Given the description of an element on the screen output the (x, y) to click on. 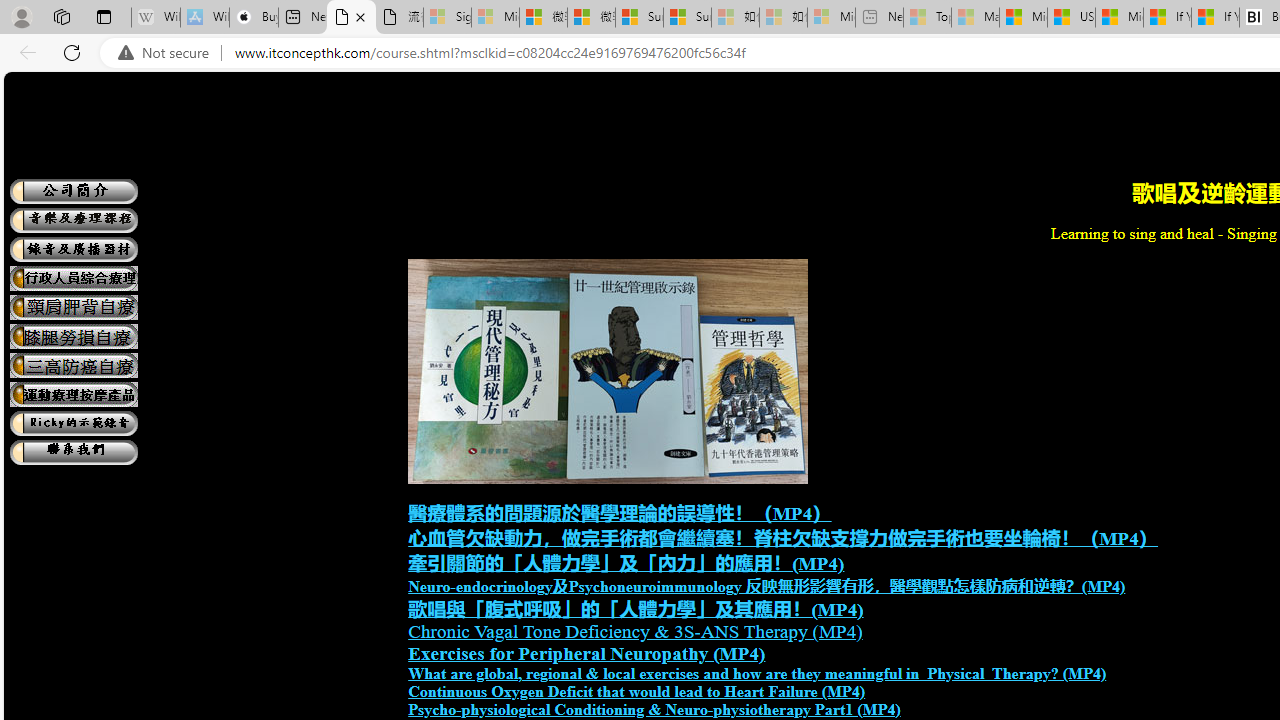
Chronic Vagal Tone Deficiency & 3S-ANS Therapy (MP4) (635, 631)
Microsoft Services Agreement - Sleeping (495, 17)
